Given the description of an element on the screen output the (x, y) to click on. 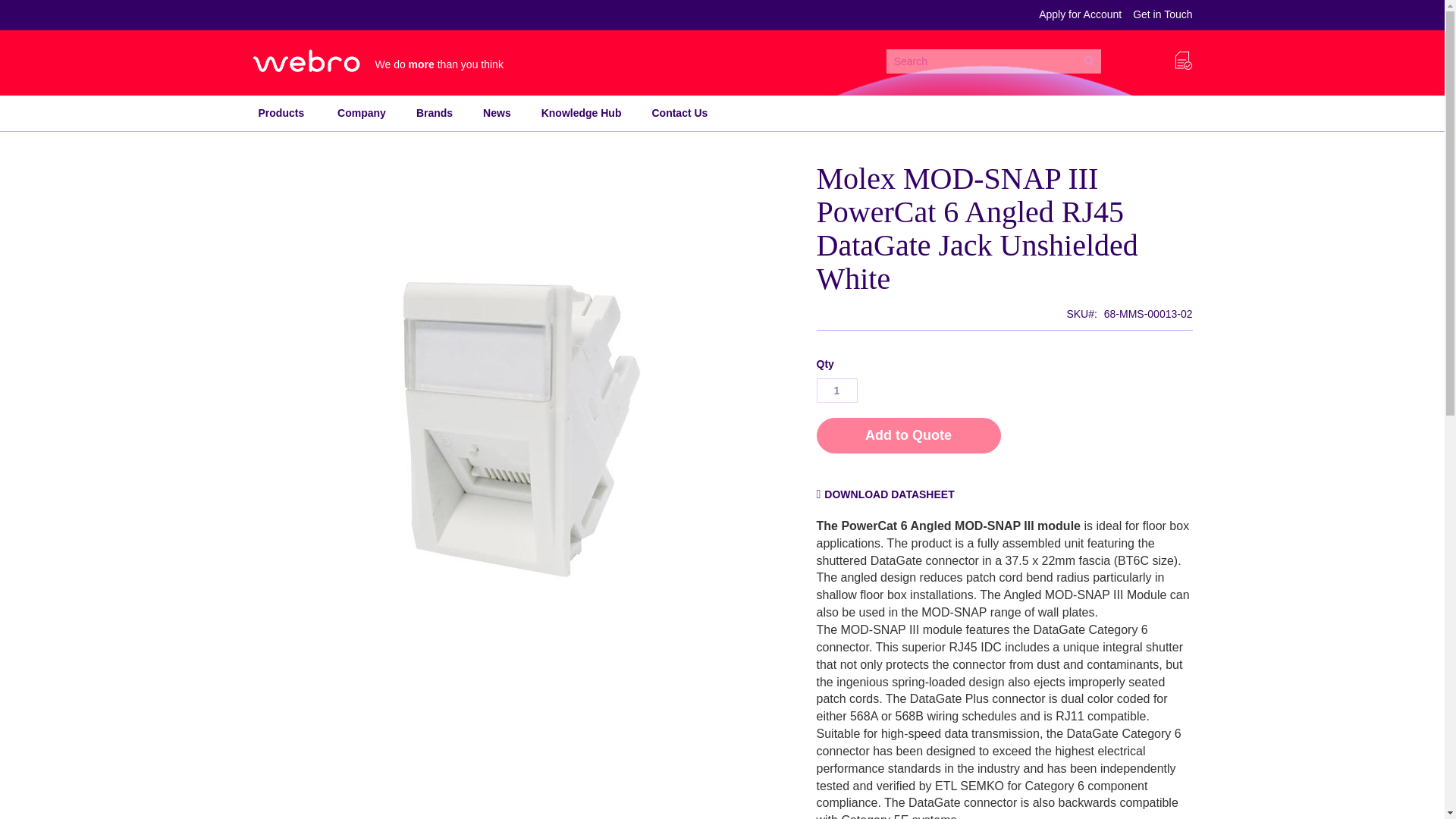
We do more than you think (381, 60)
Get in Touch (1162, 14)
Qty (836, 390)
1 (836, 390)
Products (280, 113)
Add to Quote (907, 435)
Apply for Account (1080, 14)
